Given the description of an element on the screen output the (x, y) to click on. 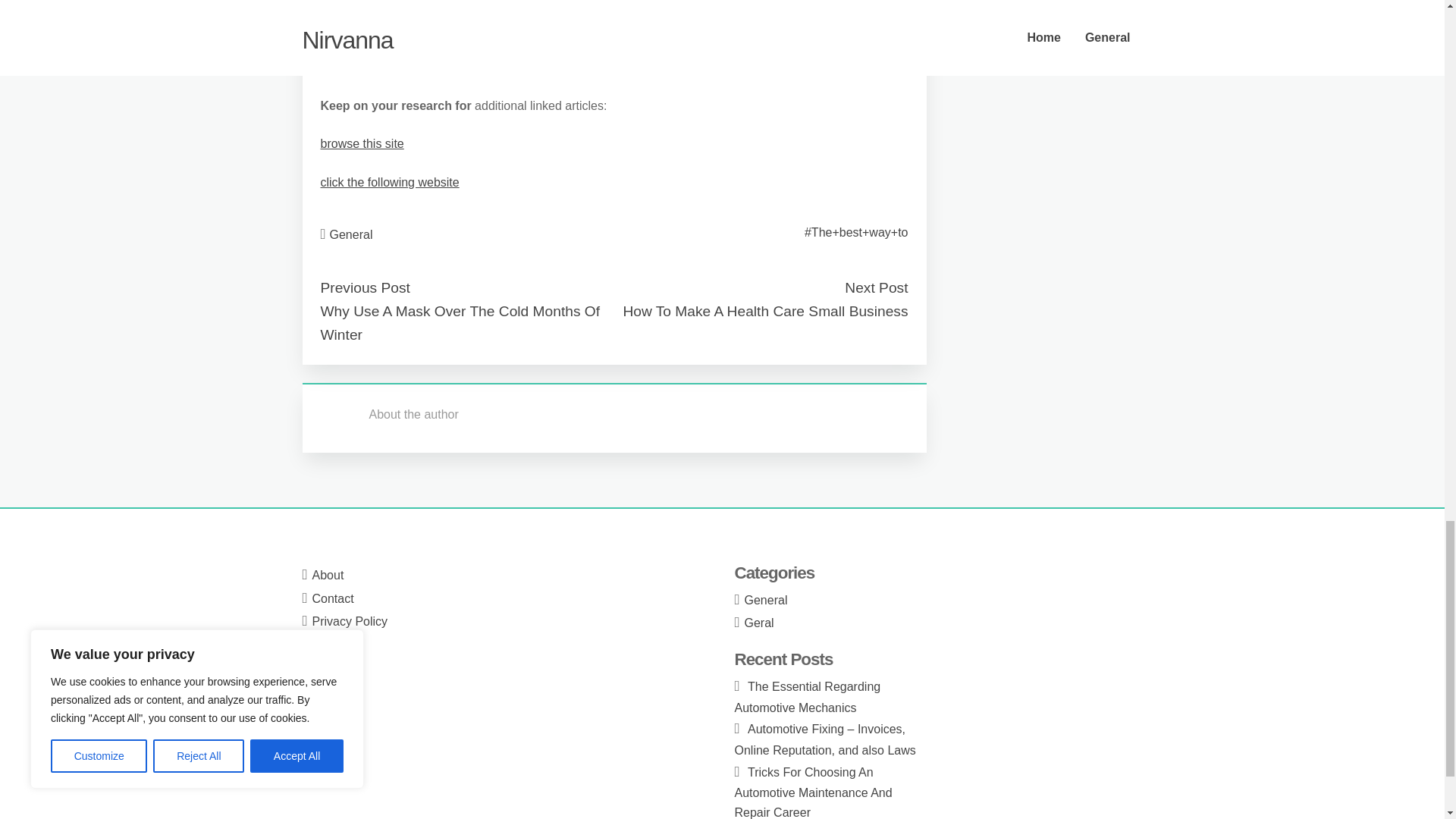
General (351, 234)
Previous Post (364, 287)
How To Make A Health Care Small Business (765, 311)
browse this site (361, 143)
Next Post (875, 287)
click the following website (389, 182)
Why Use A Mask Over The Cold Months Of Winter (459, 323)
